Given the description of an element on the screen output the (x, y) to click on. 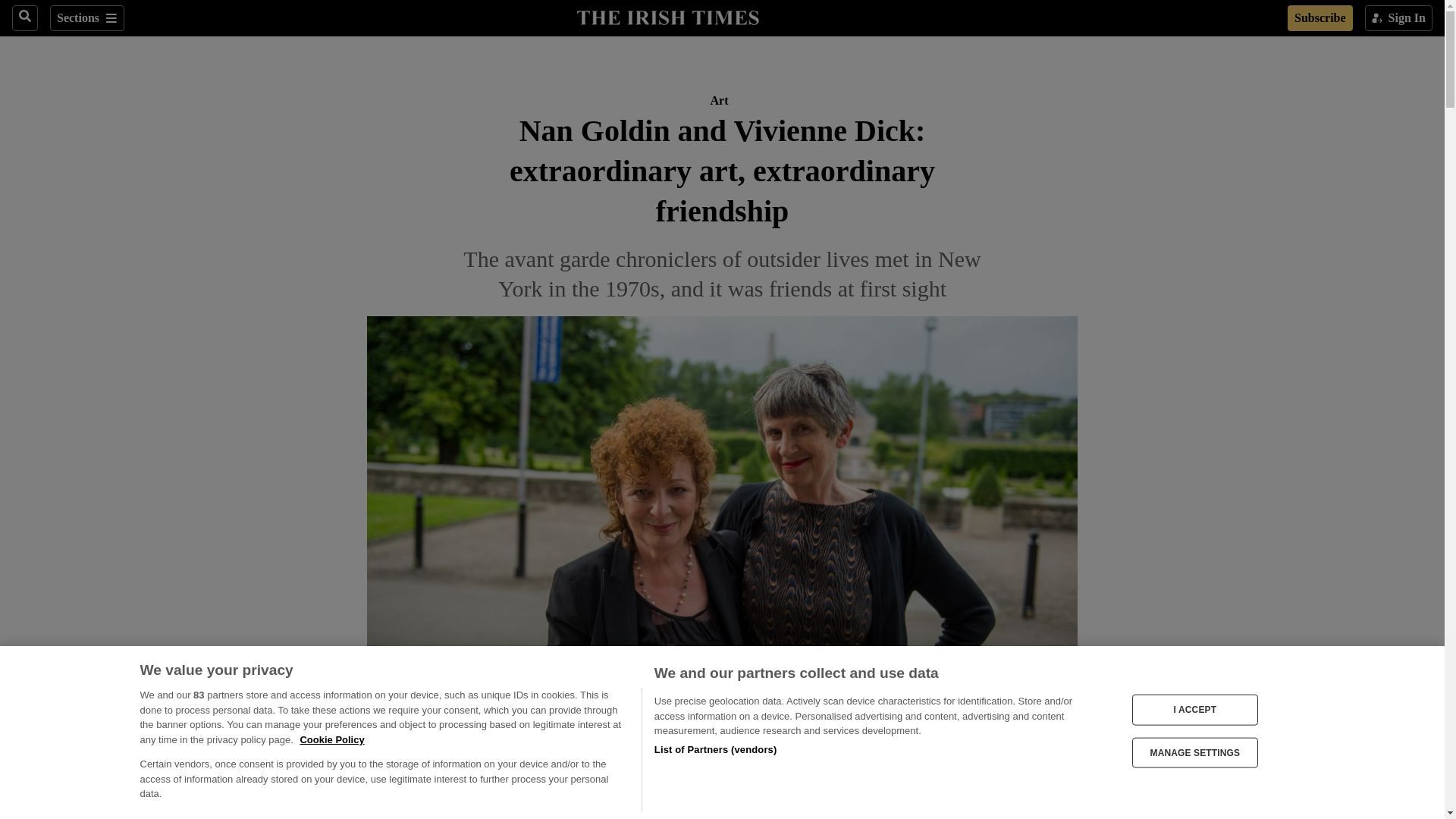
Sections (86, 17)
X (322, 816)
Subscribe (1319, 17)
Facebook (291, 816)
The Irish Times (667, 16)
Sign In (1398, 17)
WhatsApp (352, 816)
